Given the description of an element on the screen output the (x, y) to click on. 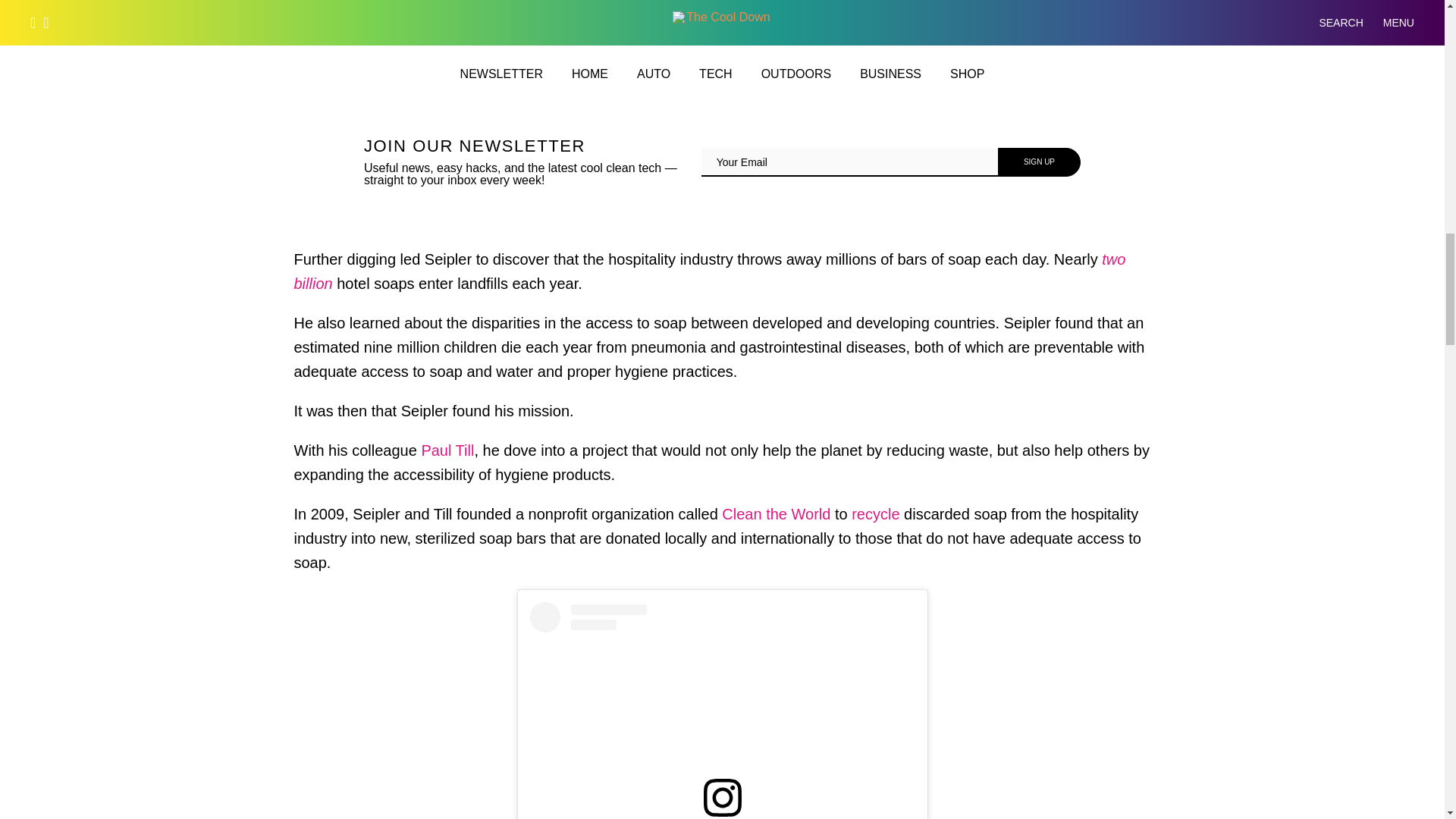
interview (1006, 40)
shampoo (901, 64)
Sign Up (1038, 162)
Bar Shampoo (901, 64)
